Given the description of an element on the screen output the (x, y) to click on. 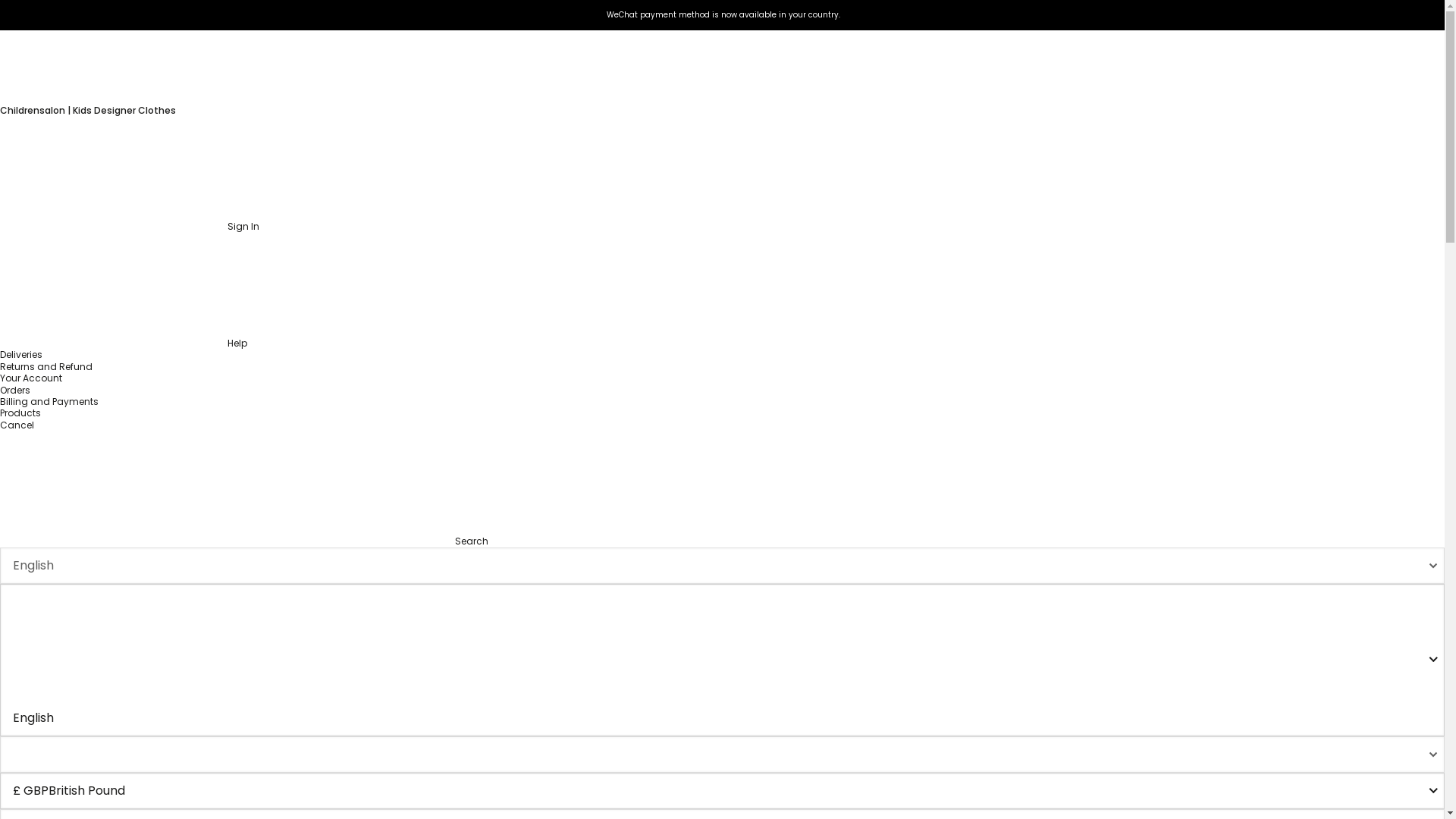
Billing and Payments (49, 400)
Your Account (31, 377)
Sign In (129, 226)
Deliveries (21, 354)
Help (123, 342)
Orders (15, 390)
Returns and Refund (46, 366)
Products (20, 412)
